Given the description of an element on the screen output the (x, y) to click on. 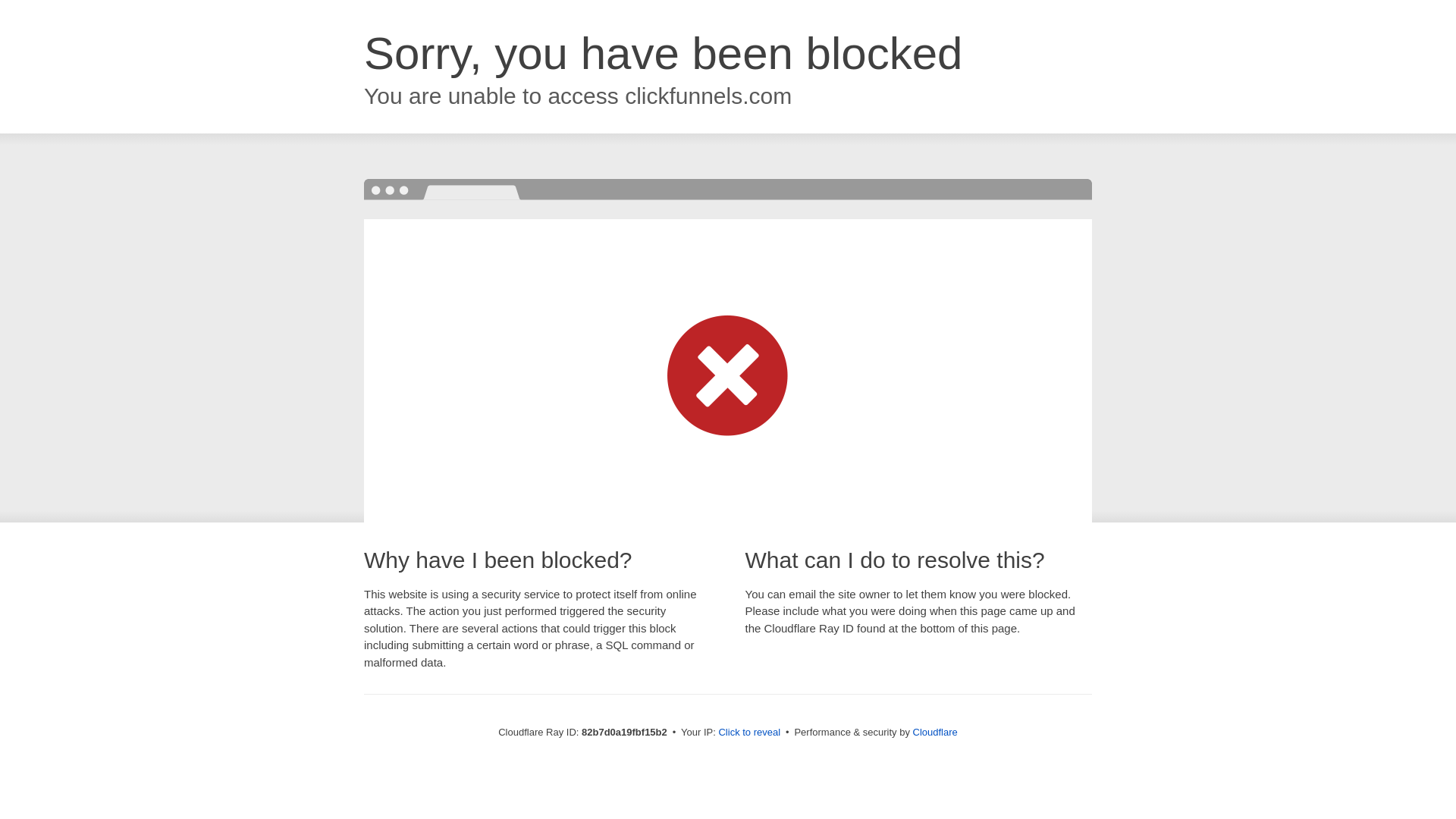
Click to reveal Element type: text (749, 732)
Cloudflare Element type: text (935, 731)
